Given the description of an element on the screen output the (x, y) to click on. 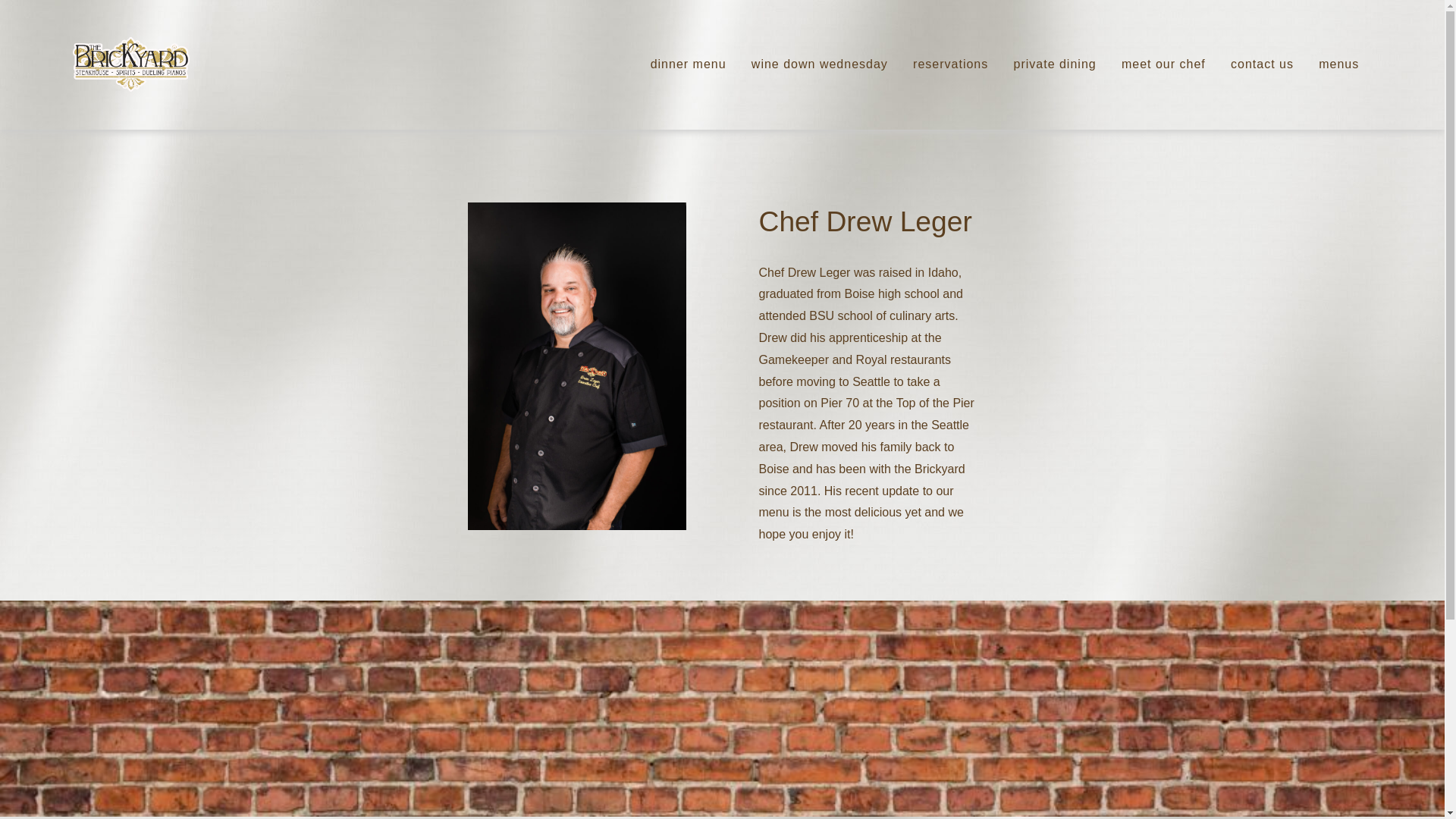
reservations (950, 65)
wine down wednesday (819, 65)
private dining (1054, 65)
menus (1338, 65)
contact us (1262, 65)
meet our chef (1163, 65)
dinner menu (688, 65)
